Given the description of an element on the screen output the (x, y) to click on. 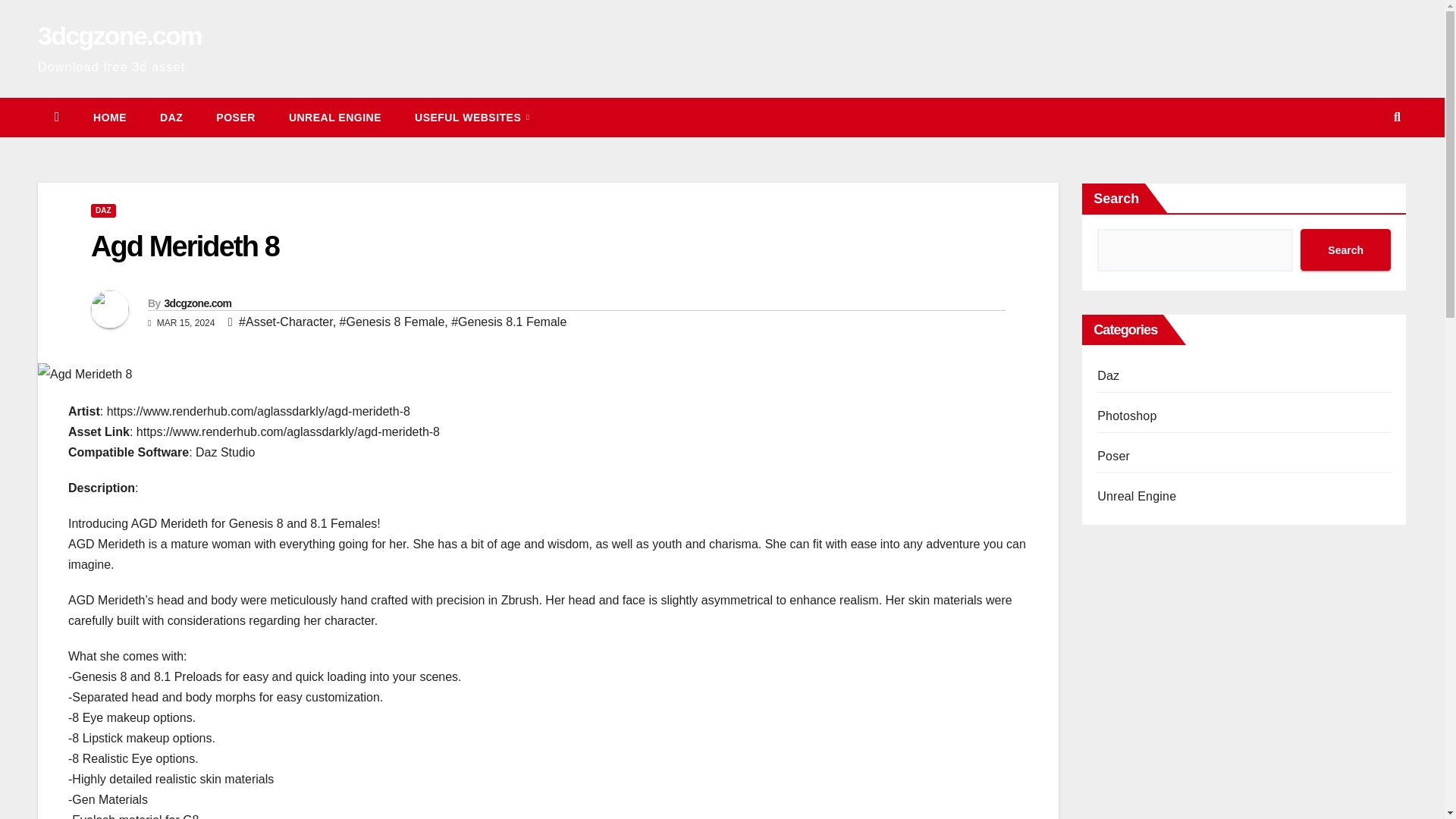
Agd Merideth 8 (184, 246)
Permalink to: Agd Merideth 8 (184, 246)
USEFUL WEBSITES (471, 117)
DAZ (170, 117)
Useful Websites (471, 117)
POSER (235, 117)
3dcgzone.com (119, 35)
UNREAL ENGINE (334, 117)
Poser (235, 117)
Daz (170, 117)
